Given the description of an element on the screen output the (x, y) to click on. 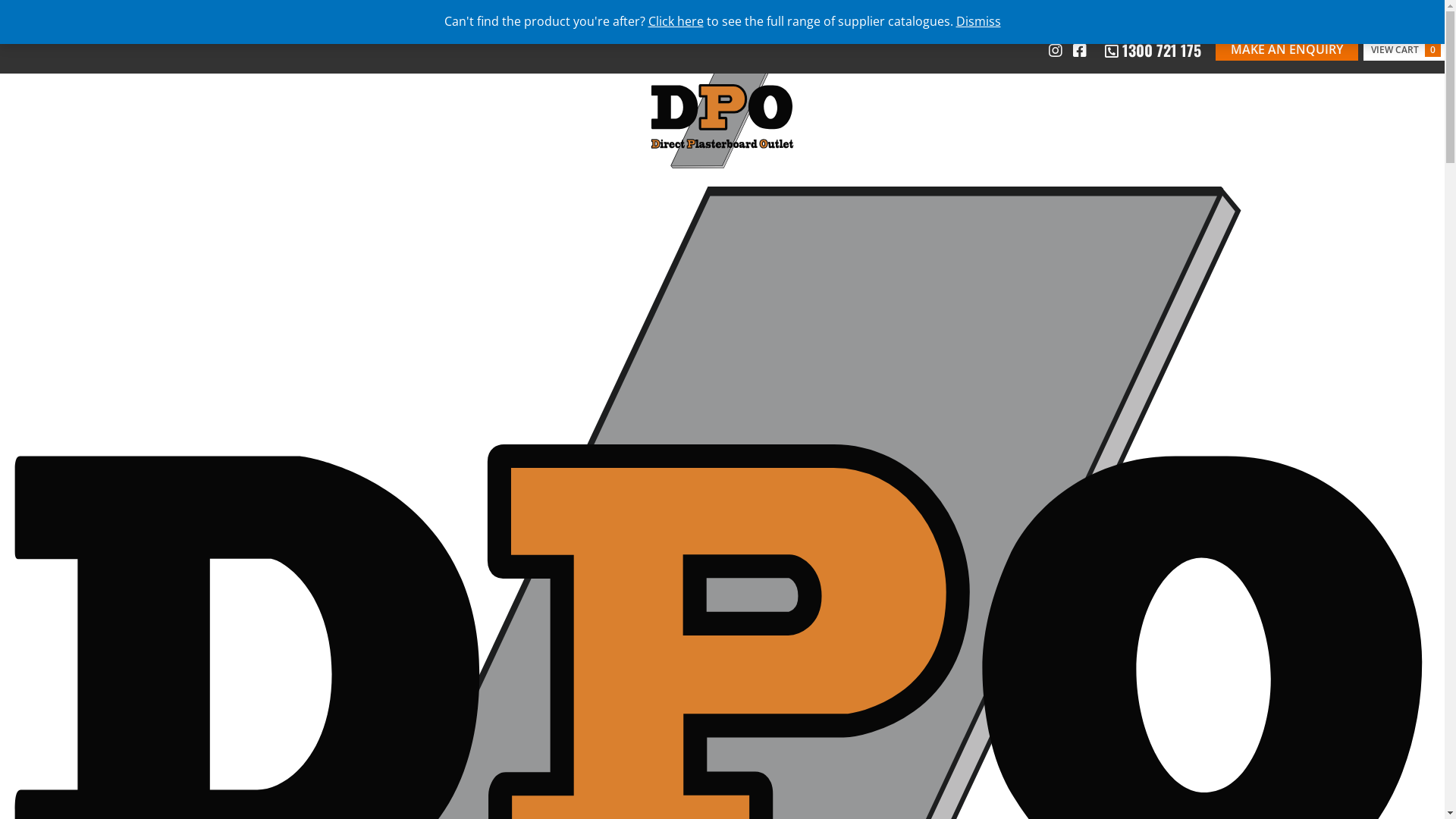
1300 721 175 Element type: text (1152, 49)
MAKE AN ENQUIRY Element type: text (1286, 48)
VIEW CART 0 Element type: text (1405, 48)
Dismiss Element type: text (977, 20)
Click here Element type: text (674, 20)
